Given the description of an element on the screen output the (x, y) to click on. 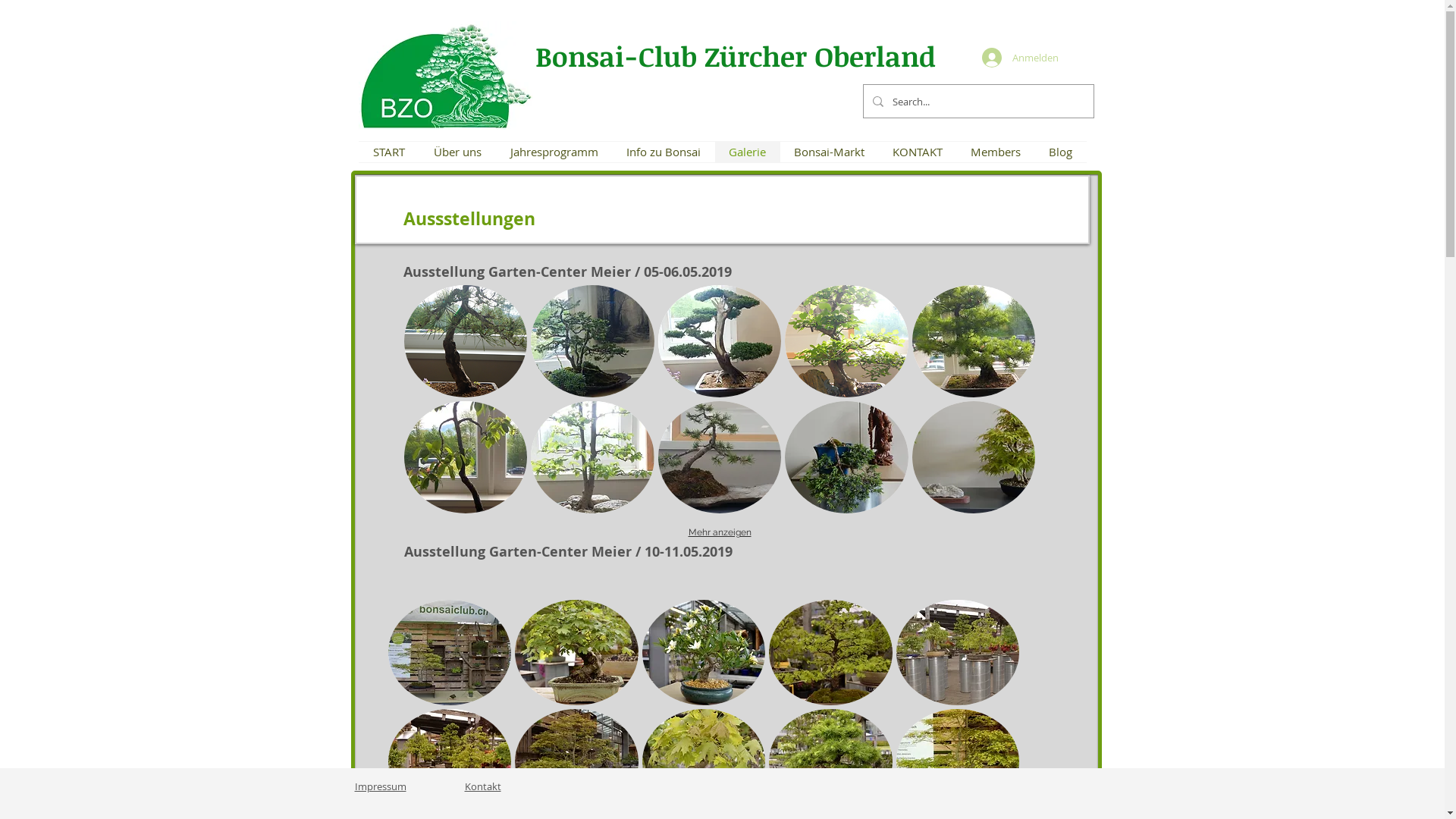
Bonsai-Markt Element type: text (828, 151)
Mehr anzeigen Element type: text (719, 531)
Impressum Element type: text (380, 786)
KONTAKT Element type: text (917, 151)
Members Element type: text (996, 151)
Blog Element type: text (1059, 151)
Anmelden Element type: text (1015, 57)
Jahresprogramm Element type: text (553, 151)
Galerie Element type: text (746, 151)
Kontakt Element type: text (482, 786)
START Element type: text (387, 151)
